Given the description of an element on the screen output the (x, y) to click on. 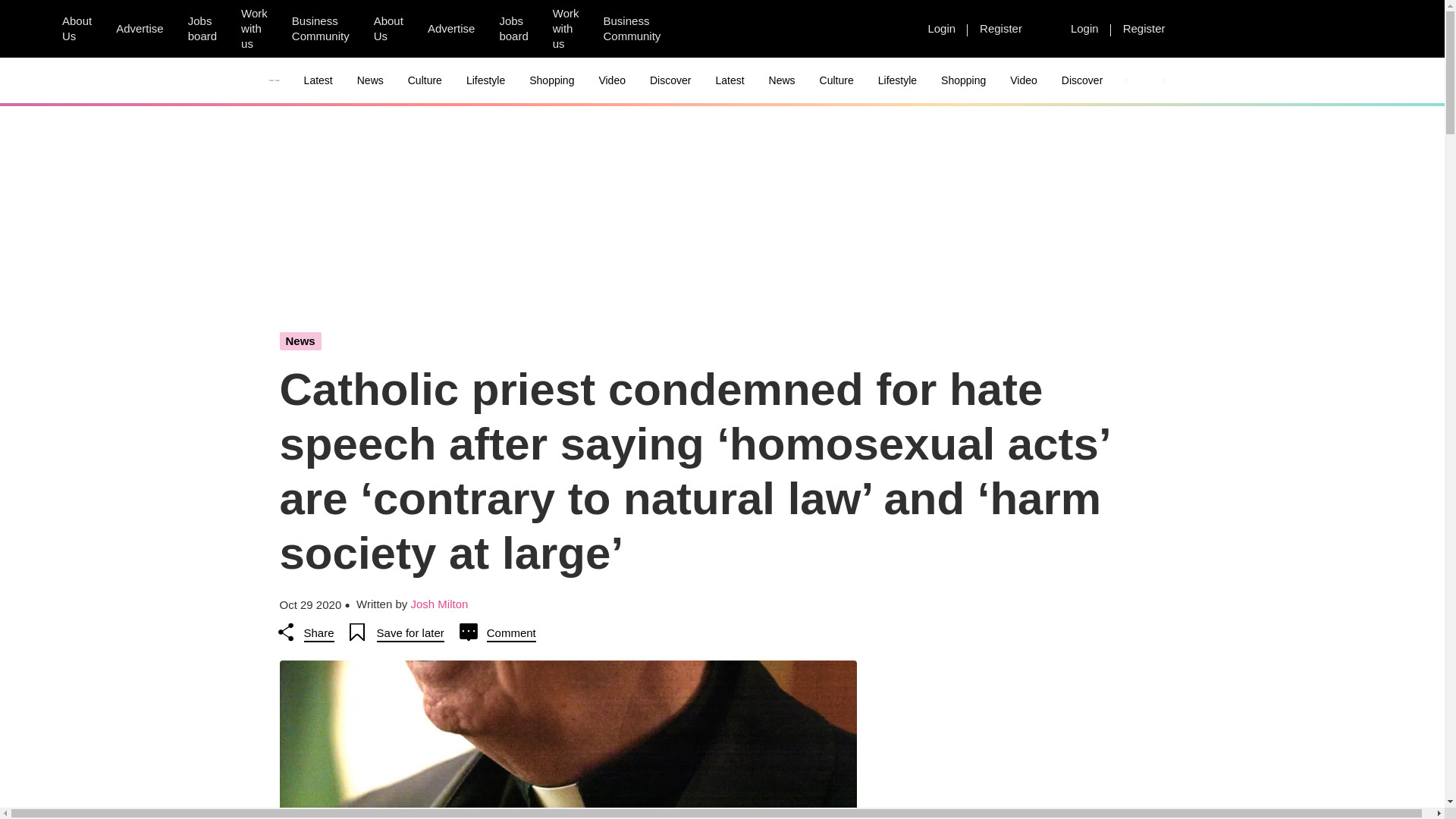
Work with us (565, 28)
Work with us (253, 28)
Jobs board (202, 28)
Follow PinkNews on LinkedIn (775, 28)
News (370, 79)
Business Community (320, 28)
Latest (318, 79)
Advertise (450, 28)
Jobs board (513, 28)
Register (1143, 28)
Login (941, 28)
About Us (387, 28)
Register (1000, 28)
Advertise (139, 28)
Login (1084, 28)
